Given the description of an element on the screen output the (x, y) to click on. 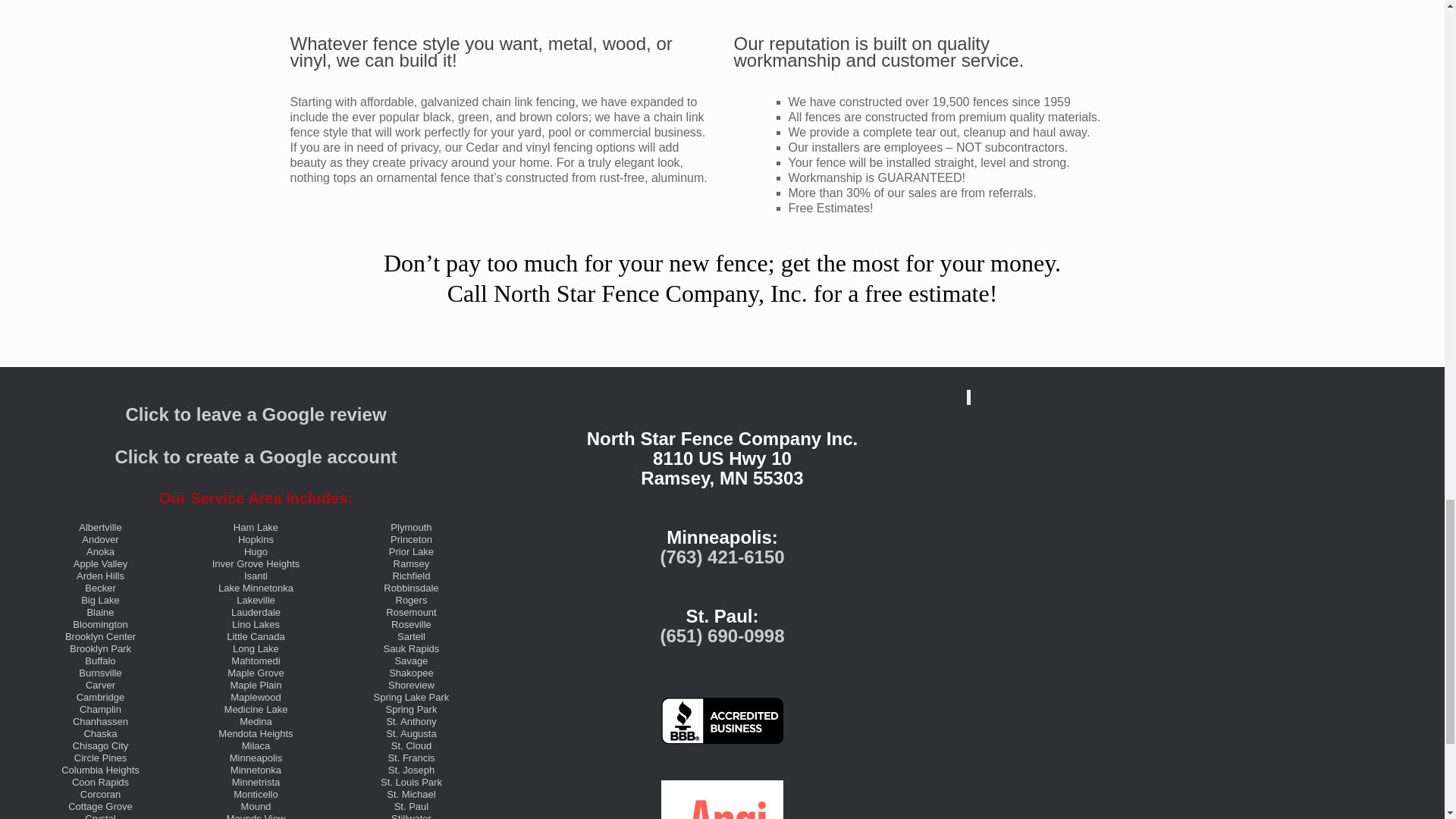
Columbia Heights (100, 769)
Apple Valley (101, 563)
Click to create a Google account (255, 456)
Becker (99, 587)
Carver (100, 685)
Blaine (99, 612)
Cambridge (101, 696)
Brooklyn Center (100, 636)
Anoka (100, 551)
Chaska (99, 733)
Champlin (100, 708)
Burnsville (99, 672)
Chanhassen (100, 721)
Bloomington (100, 624)
Andover (99, 539)
